Given the description of an element on the screen output the (x, y) to click on. 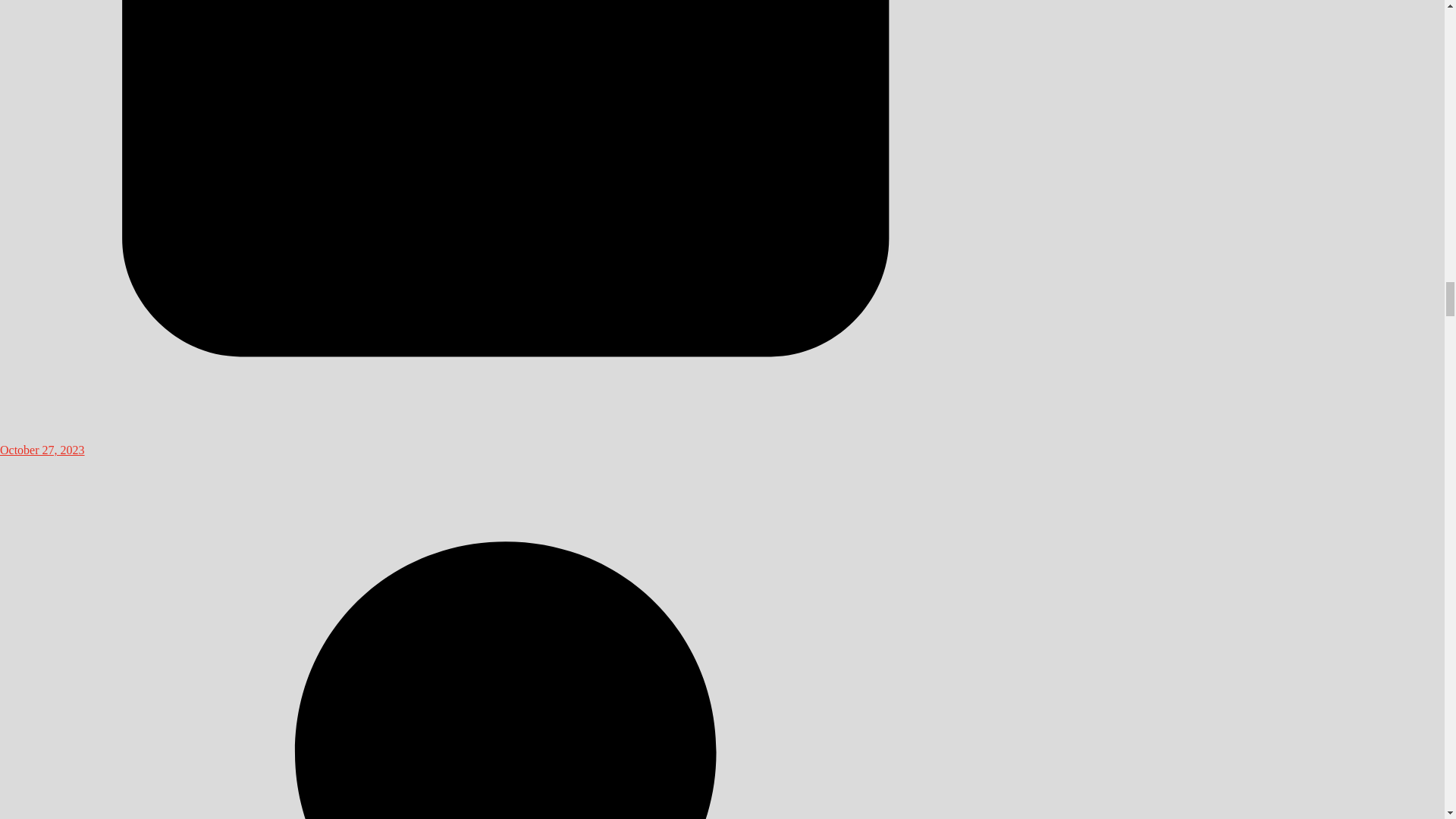
October 27, 2023 (505, 442)
6:15 pm (505, 442)
